Given the description of an element on the screen output the (x, y) to click on. 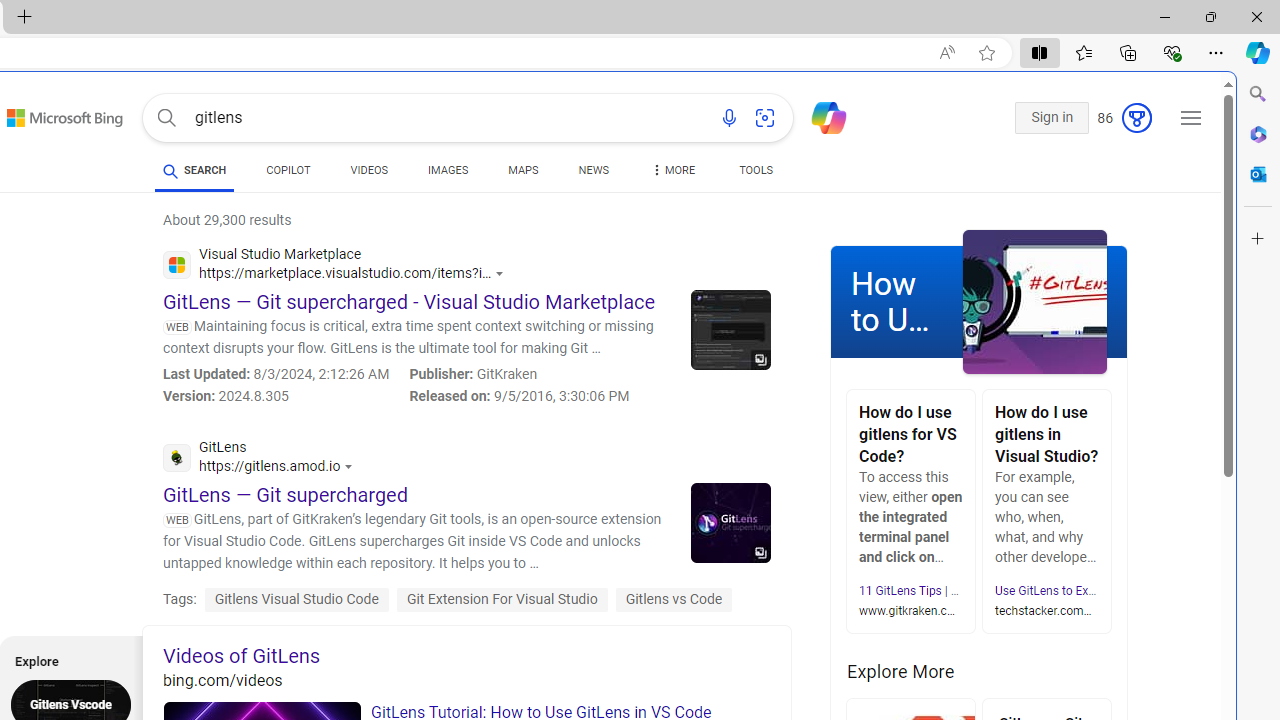
SEARCH (194, 170)
Videos of GitLens (466, 656)
AutomationID: rh_meter (1137, 117)
COPILOT (288, 170)
GitLens (262, 459)
SEARCH (194, 170)
